Given the description of an element on the screen output the (x, y) to click on. 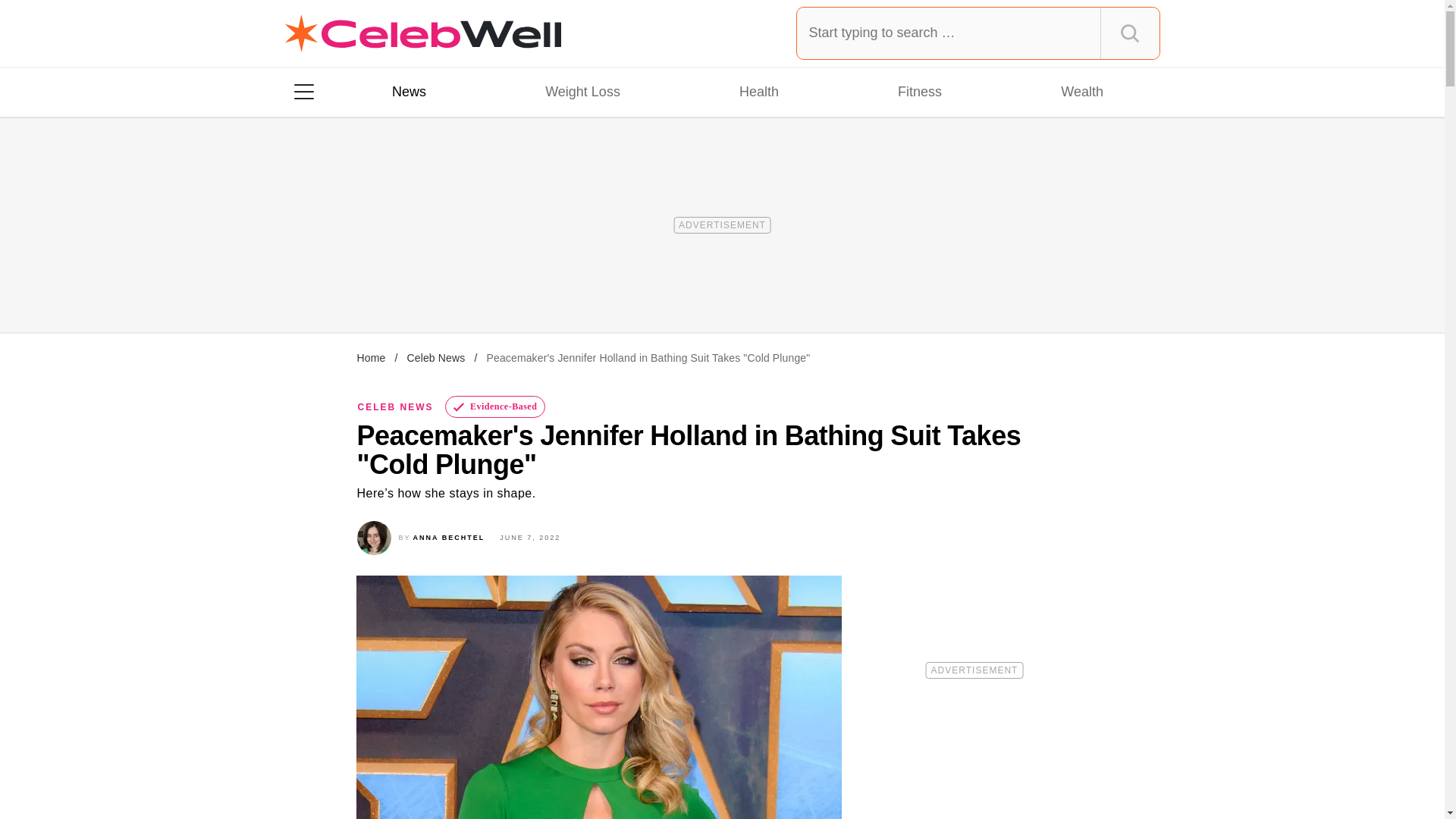
Celeb News (435, 357)
Fitness (919, 91)
ANNA BECHTEL (448, 537)
Health (758, 91)
Evidence-Based (495, 406)
Weight Loss (582, 91)
CELEB NEWS (395, 407)
Home (370, 357)
Posts by Anna Bechtel (448, 537)
Type and press Enter to search (978, 32)
Wealth (1081, 91)
News (408, 91)
Celebwell Homepage (422, 33)
